Given the description of an element on the screen output the (x, y) to click on. 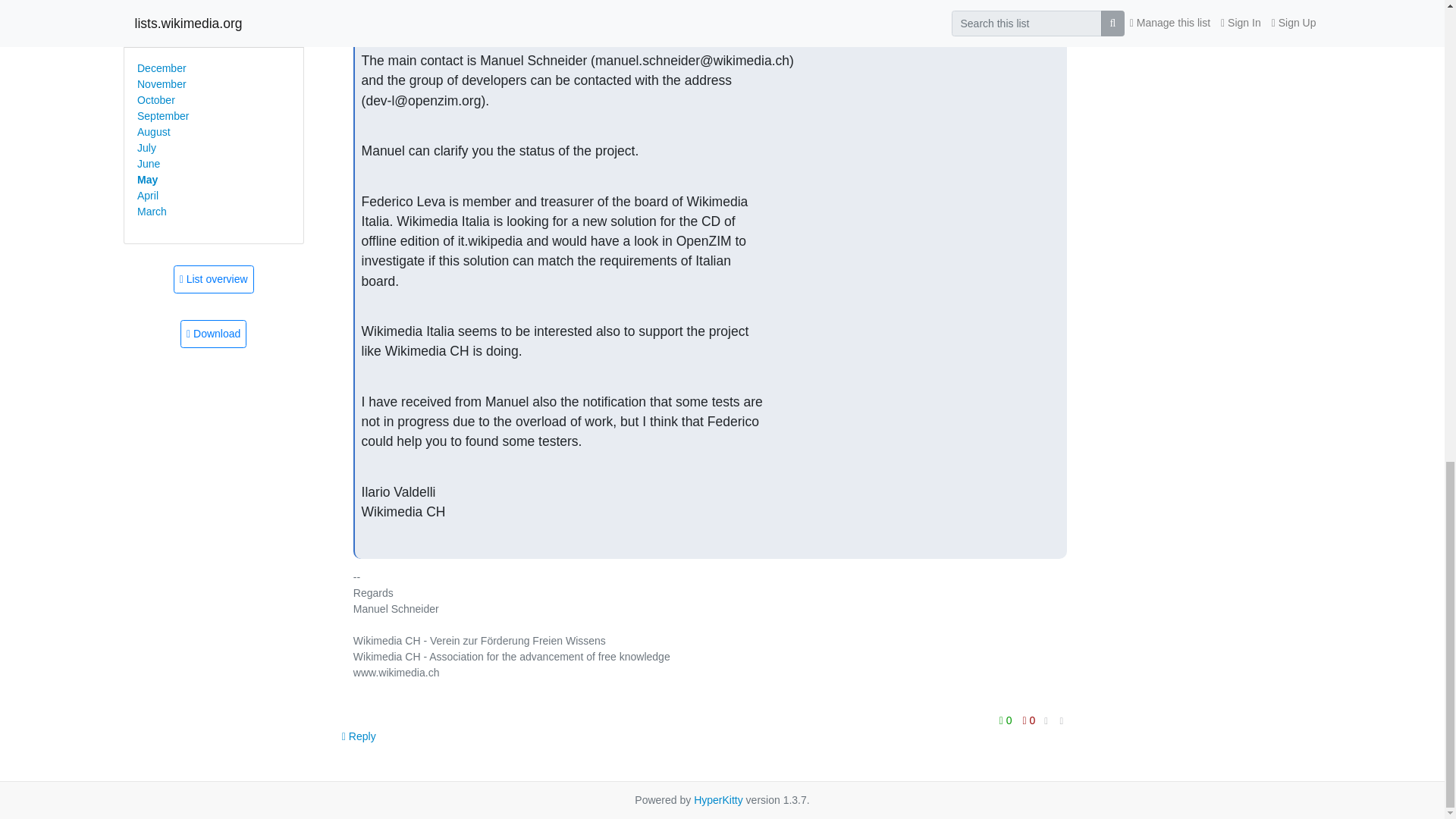
This message in gzipped mbox format (213, 334)
You must be logged-in to vote. (1029, 720)
You must be logged-in to vote. (1007, 720)
Sign in to reply online (359, 736)
